Given the description of an element on the screen output the (x, y) to click on. 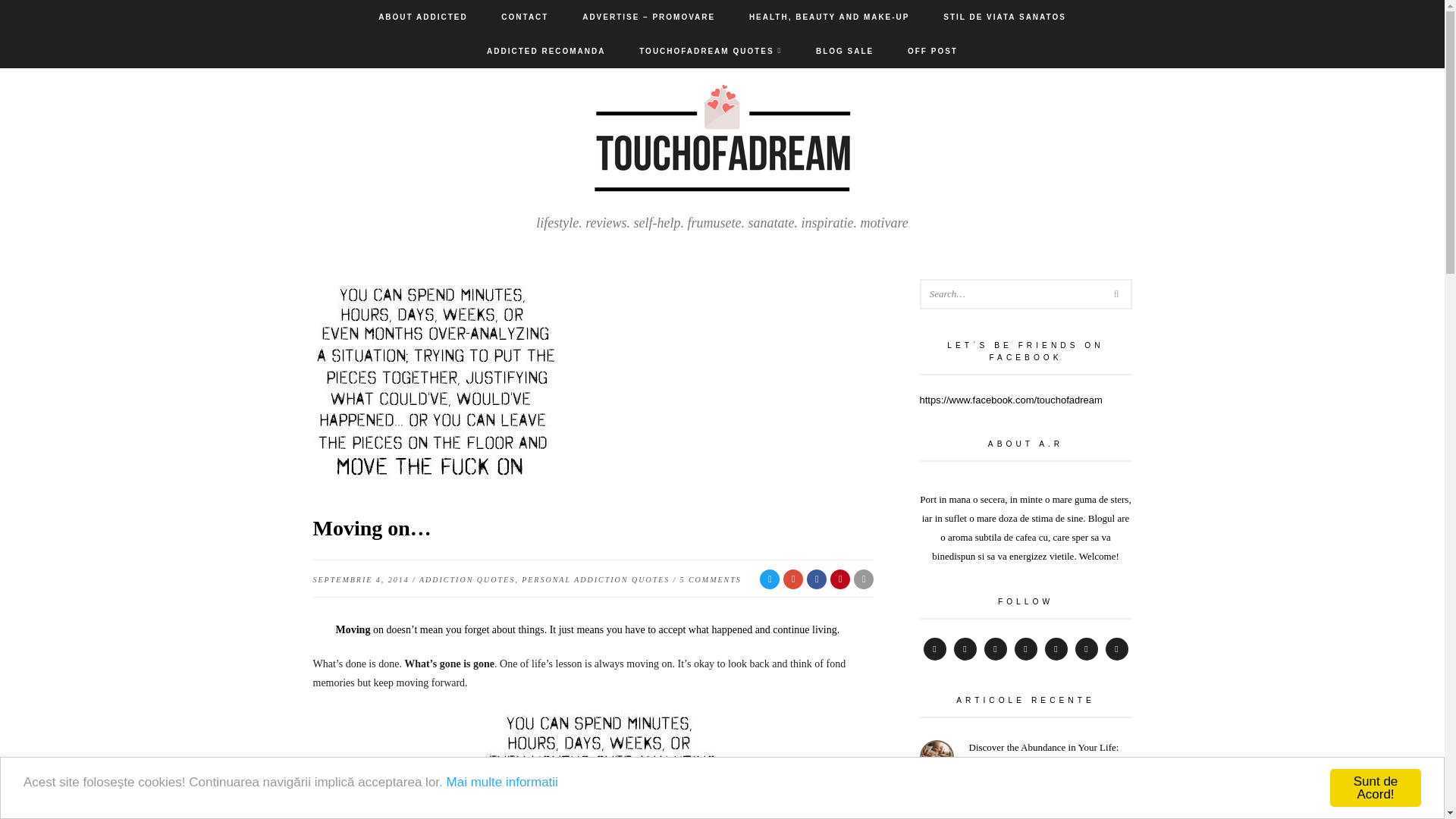
ADDICTION QUOTES (467, 579)
Secret de sanatate si frumusete (829, 17)
CONTACT (524, 17)
5 COMMENTS (710, 579)
TOUCHOFADREAM QUOTES (710, 50)
Contact touchofadream (524, 17)
Recomandari touchofadream (545, 50)
ADDICTED RECOMANDA (545, 50)
Despre Touchofadream (422, 17)
Addiction Quotes and photo quotes (710, 50)
STIL DE VIATA SANATOS (1004, 17)
Stil de viata sanatos (1004, 17)
Petra Shoes Sale (844, 50)
PERSONAL ADDICTION QUOTES (595, 579)
OFF POST (932, 50)
